Given the description of an element on the screen output the (x, y) to click on. 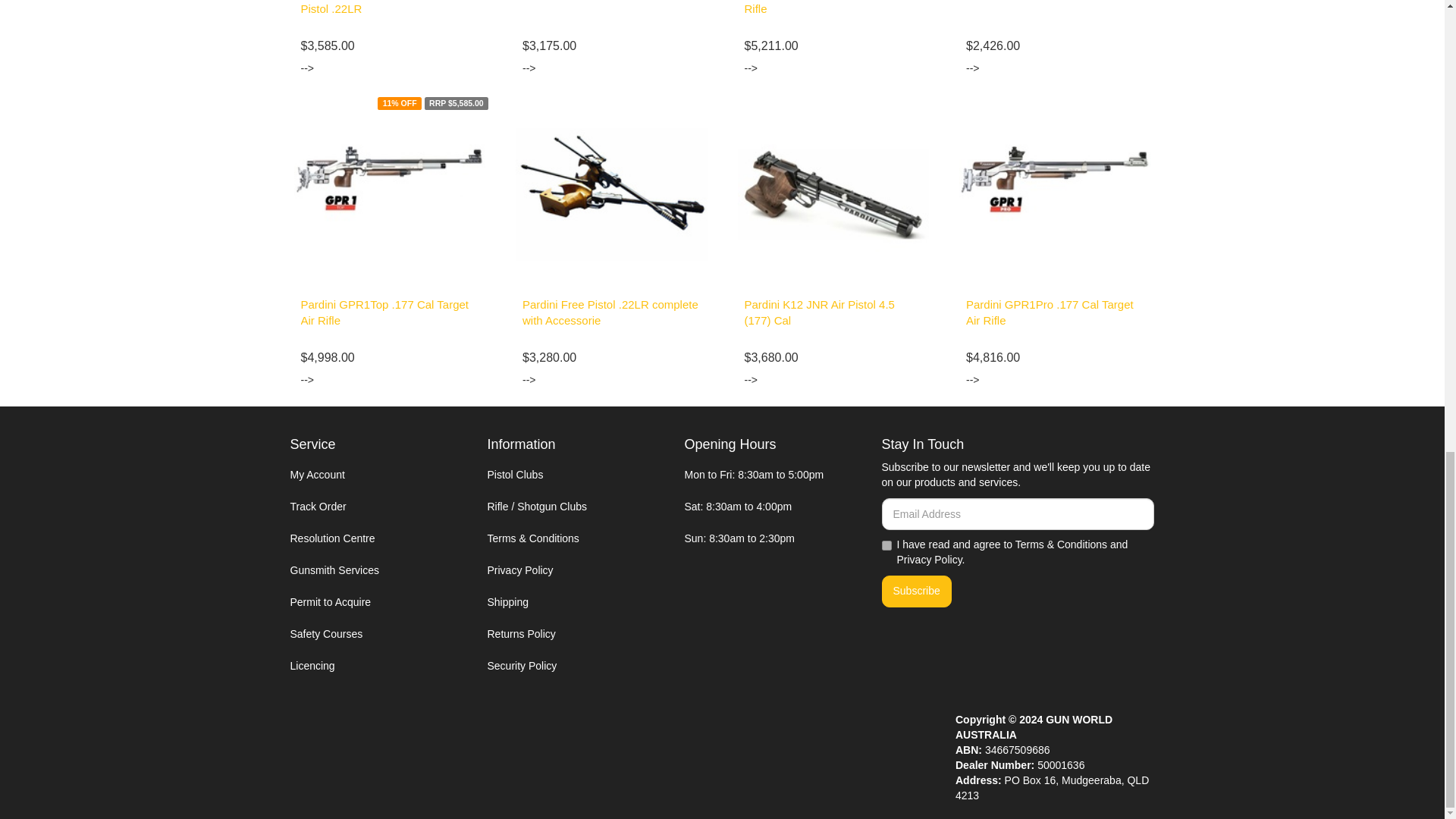
y (885, 545)
Subscribe (915, 591)
